Given the description of an element on the screen output the (x, y) to click on. 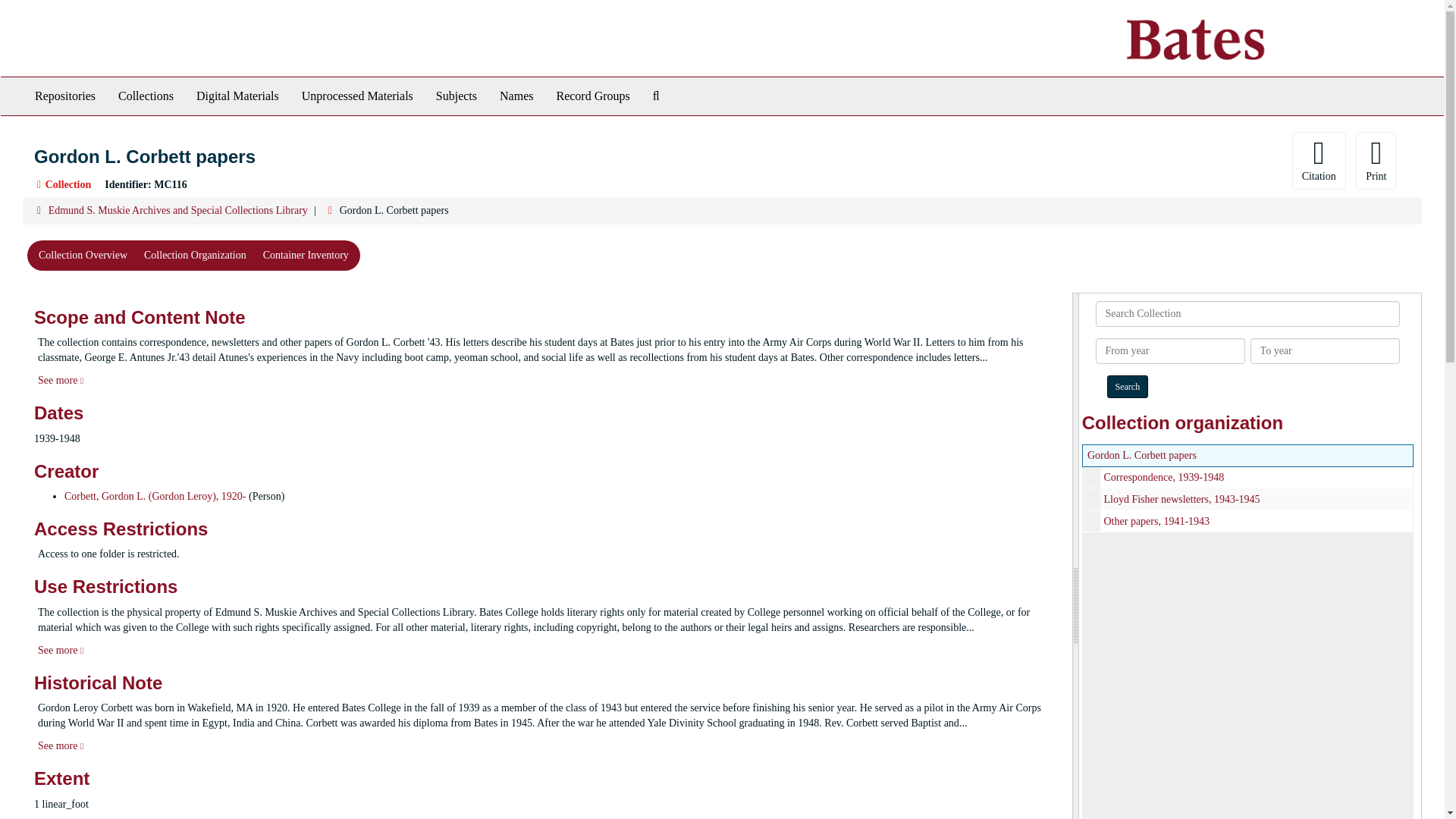
Collection Organization (194, 255)
Collections (145, 95)
Correspondence (1247, 477)
Repositories (64, 95)
See more (59, 379)
See more (59, 745)
Container Inventory (305, 255)
Edmund S. Muskie Archives and Special Collections Library (177, 210)
Names (515, 95)
See more (59, 650)
